Given the description of an element on the screen output the (x, y) to click on. 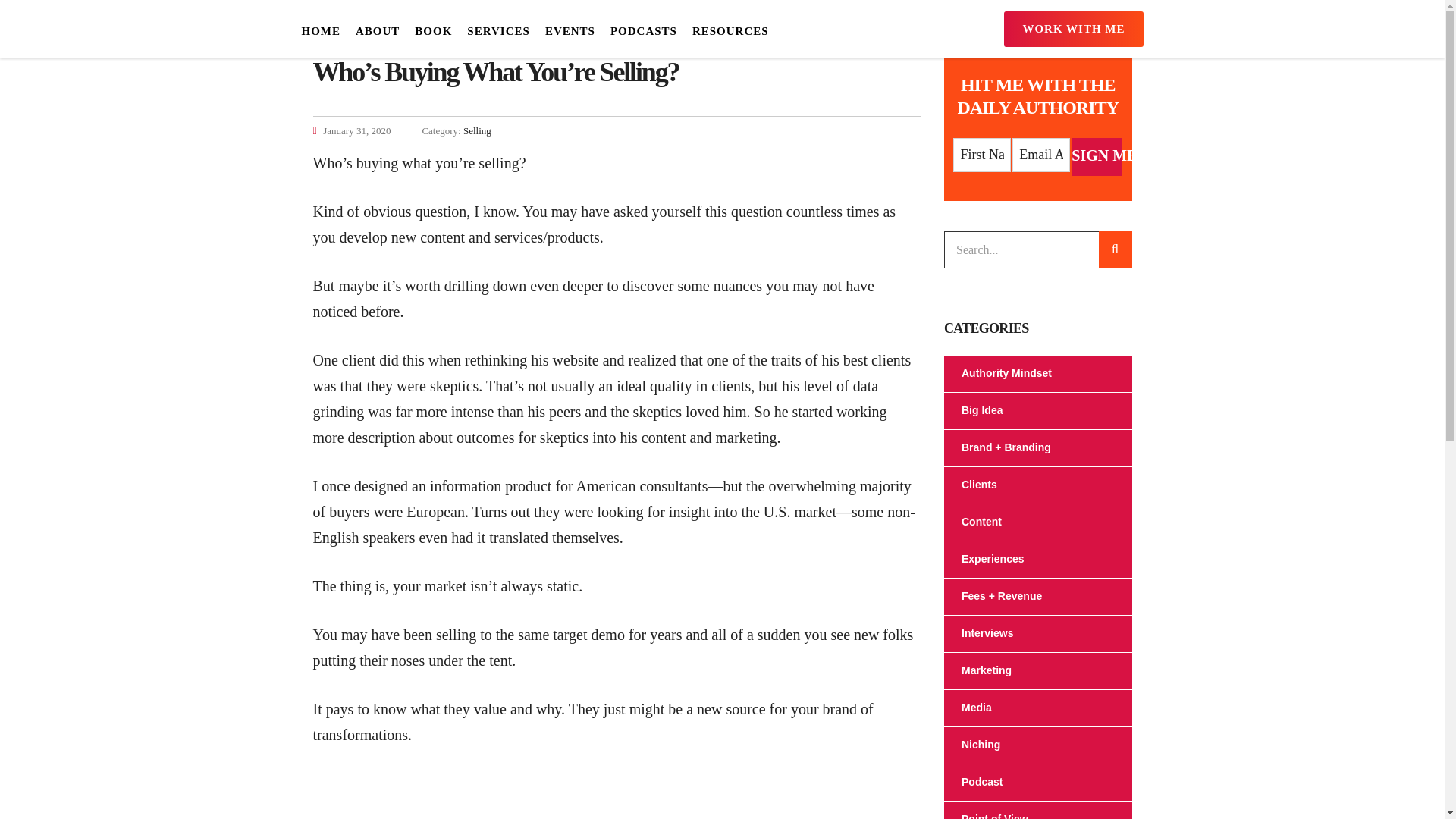
WORK WITH ME (1073, 29)
RESOURCES (730, 31)
SERVICES (498, 31)
PODCASTS (643, 31)
HOME (325, 31)
BOOK (433, 31)
ABOUT (377, 31)
EVENTS (569, 31)
